Given the description of an element on the screen output the (x, y) to click on. 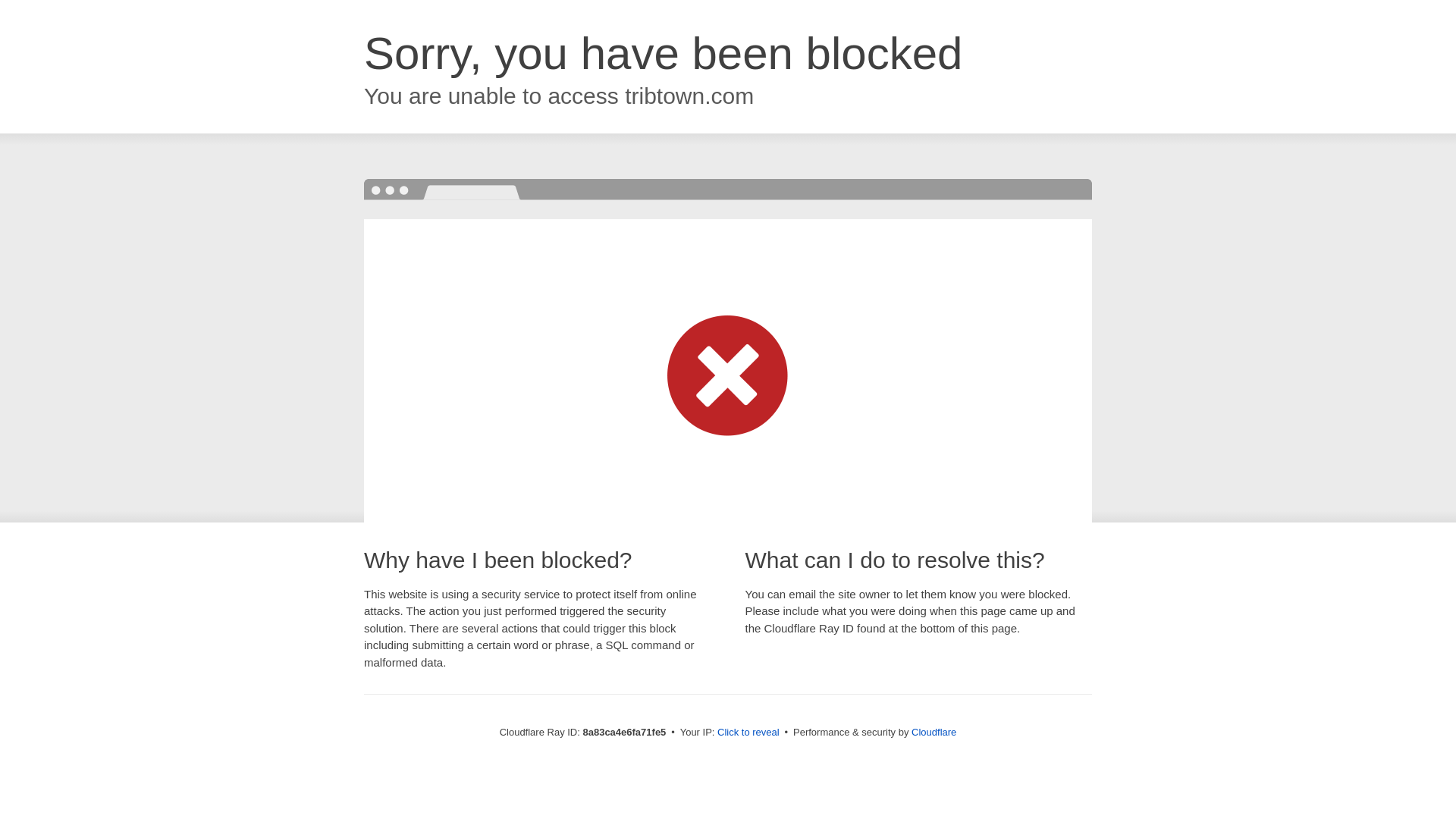
Cloudflare (933, 731)
Click to reveal (747, 732)
